Given the description of an element on the screen output the (x, y) to click on. 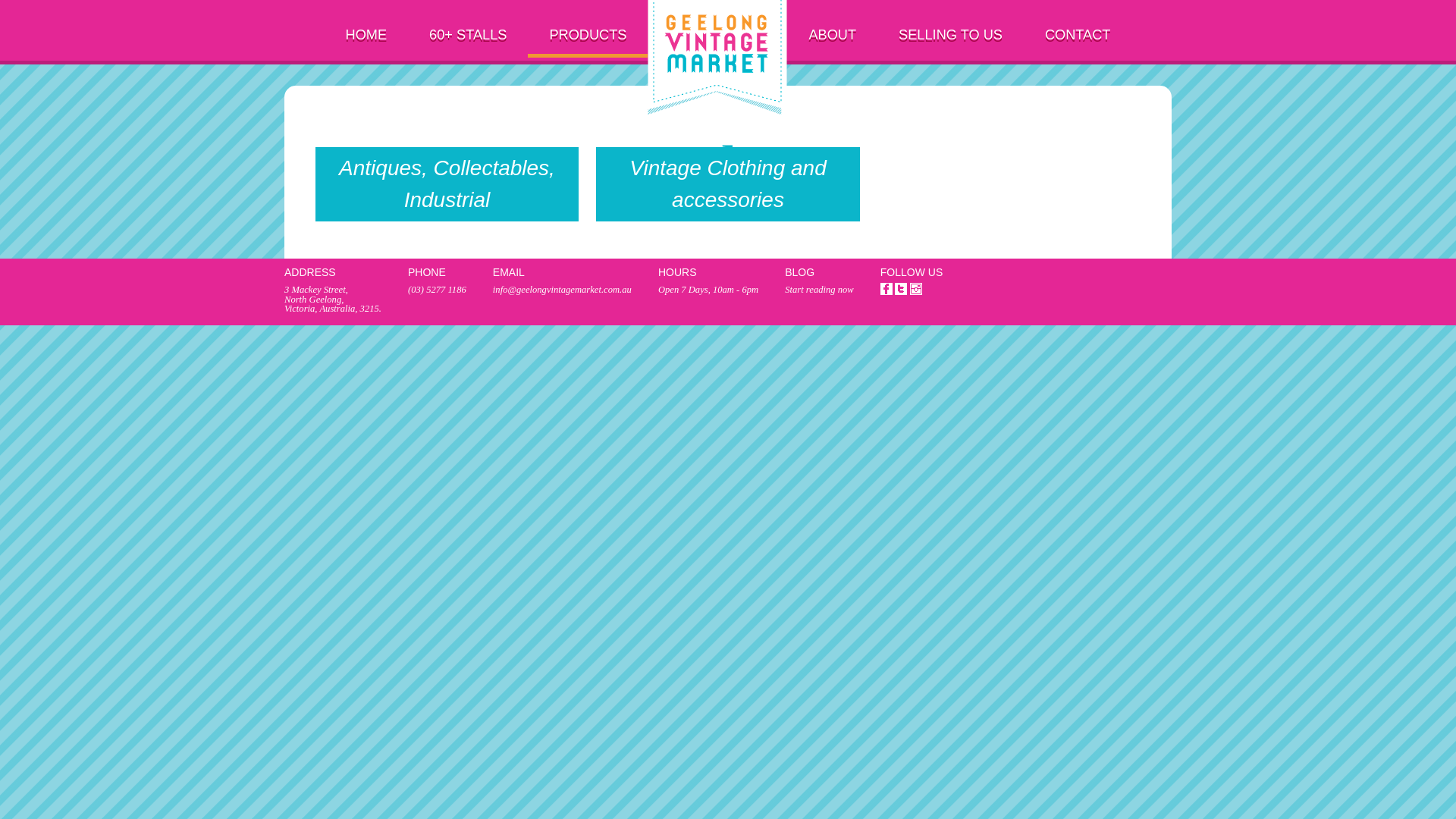
60+ STALLS Element type: text (467, 26)
Vintage Clothing and accessories Element type: text (727, 222)
HOME Element type: text (366, 26)
PRODUCTS Element type: text (587, 26)
SELLING TO US Element type: text (950, 26)
Follow us on Twitter Element type: hover (900, 282)
CONTACT Element type: text (1077, 26)
ABOUT Element type: text (832, 26)
Follow us on Instagram Element type: hover (916, 282)
Start reading now Element type: text (818, 289)
Follow us on Facebook Element type: hover (886, 282)
info@geelongvintagemarket.com.au Element type: text (561, 289)
Antiques, Collectables, Industrial Element type: text (446, 222)
